Given the description of an element on the screen output the (x, y) to click on. 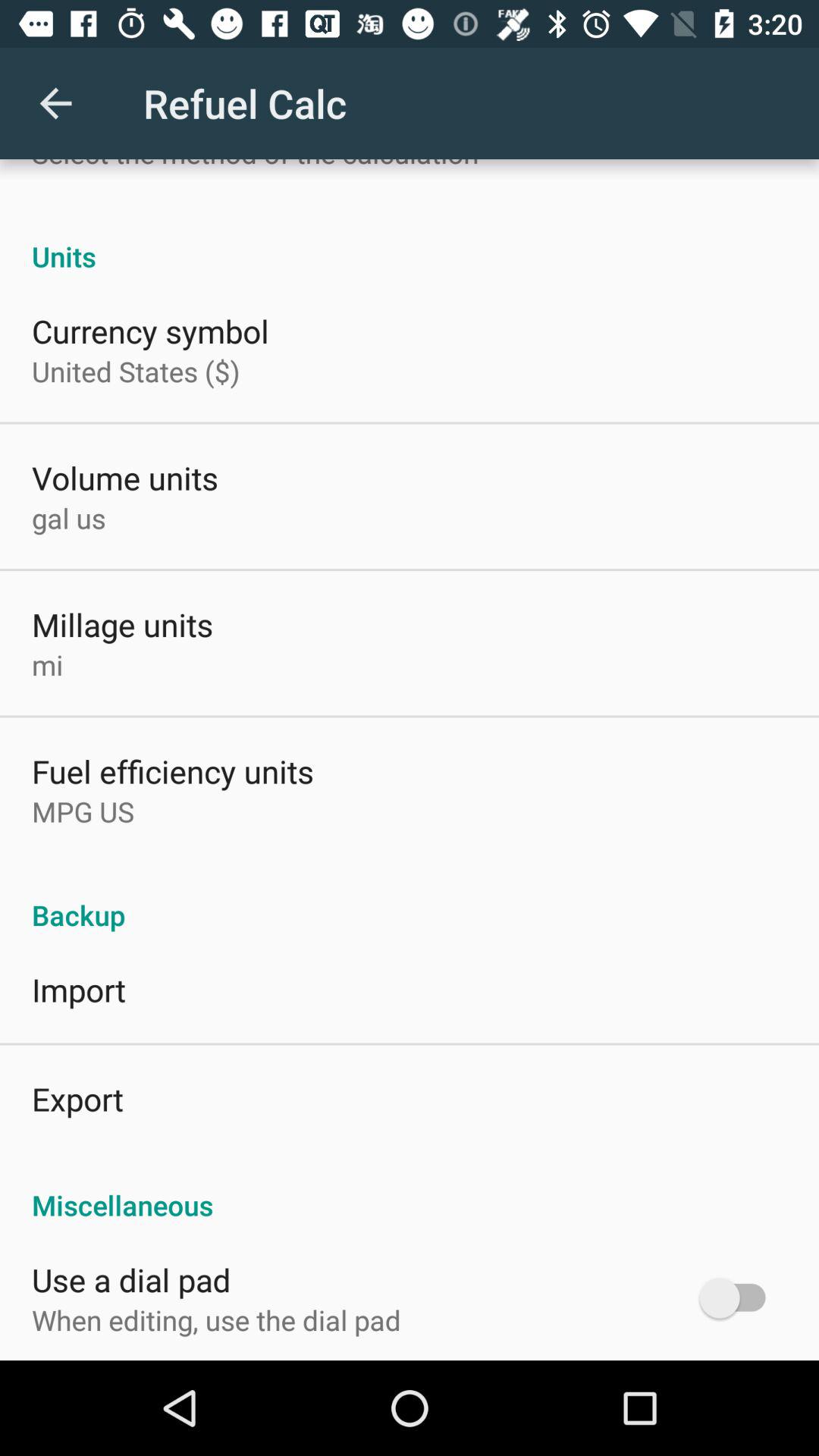
click the item next to the refuel calc (55, 103)
